Given the description of an element on the screen output the (x, y) to click on. 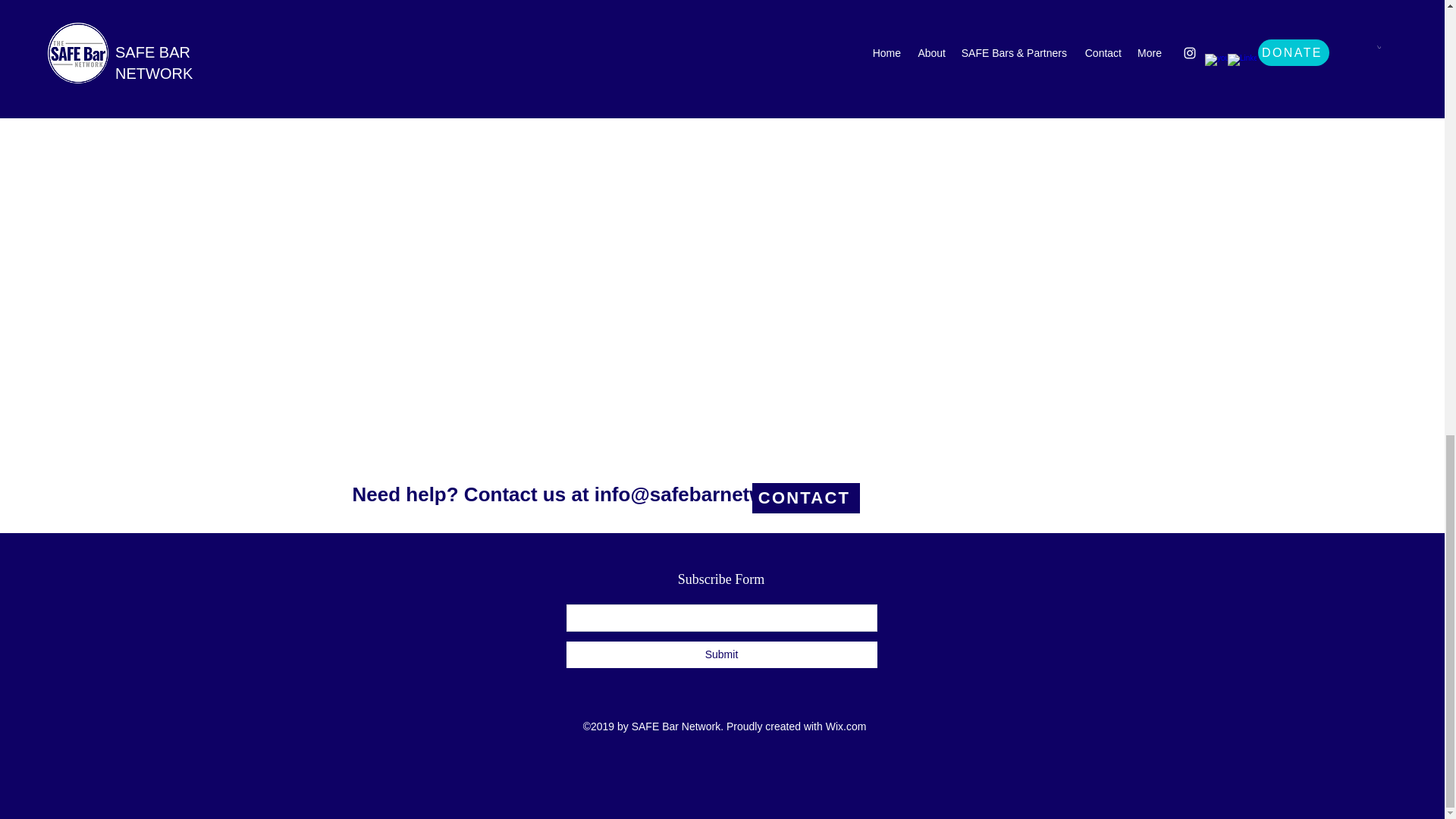
CONTACT (806, 498)
Submit (721, 654)
